Given the description of an element on the screen output the (x, y) to click on. 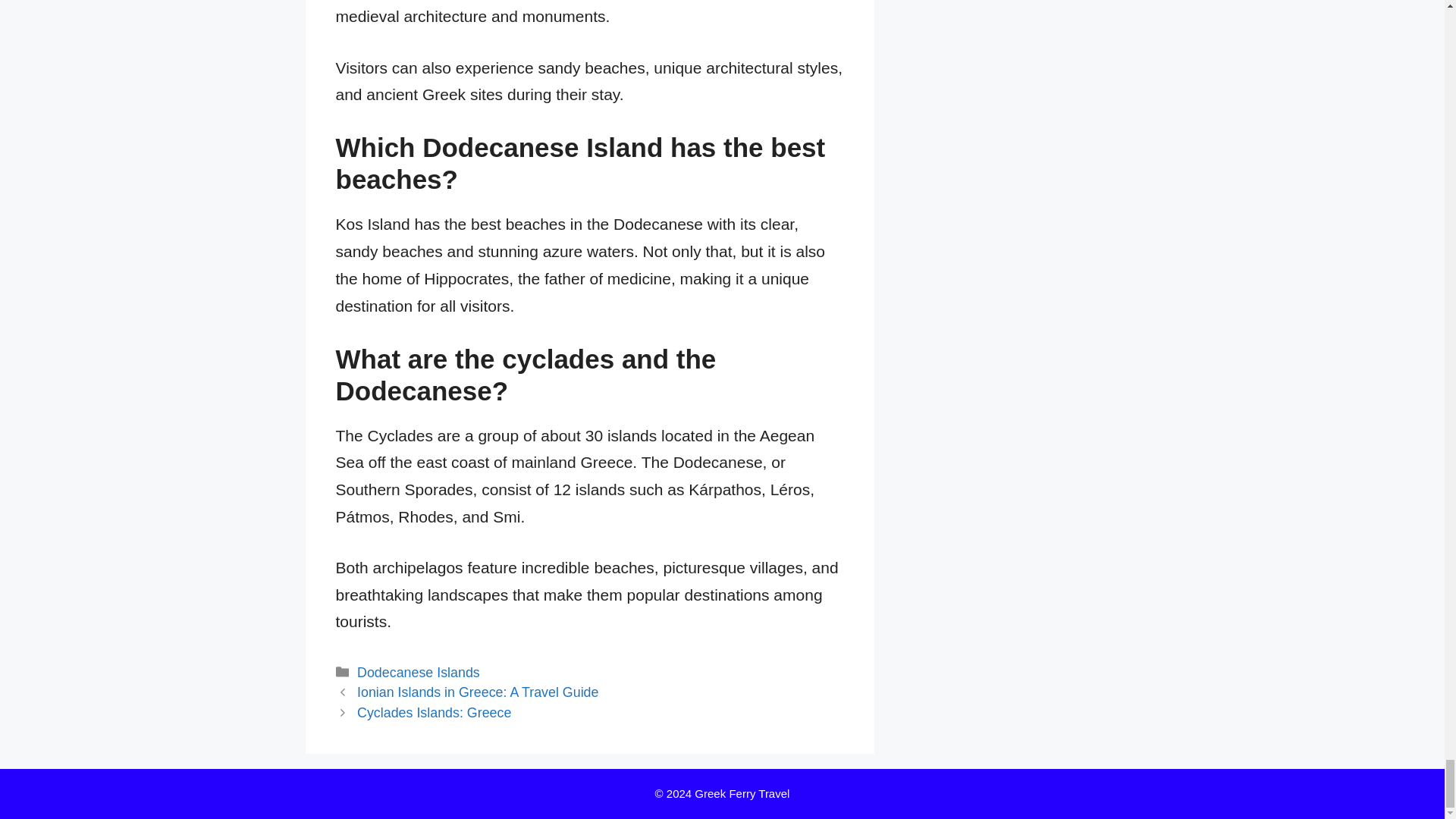
Ionian Islands in Greece: A Travel Guide (477, 692)
Cyclades Islands: Greece (433, 712)
Dodecanese Islands (418, 672)
